Given the description of an element on the screen output the (x, y) to click on. 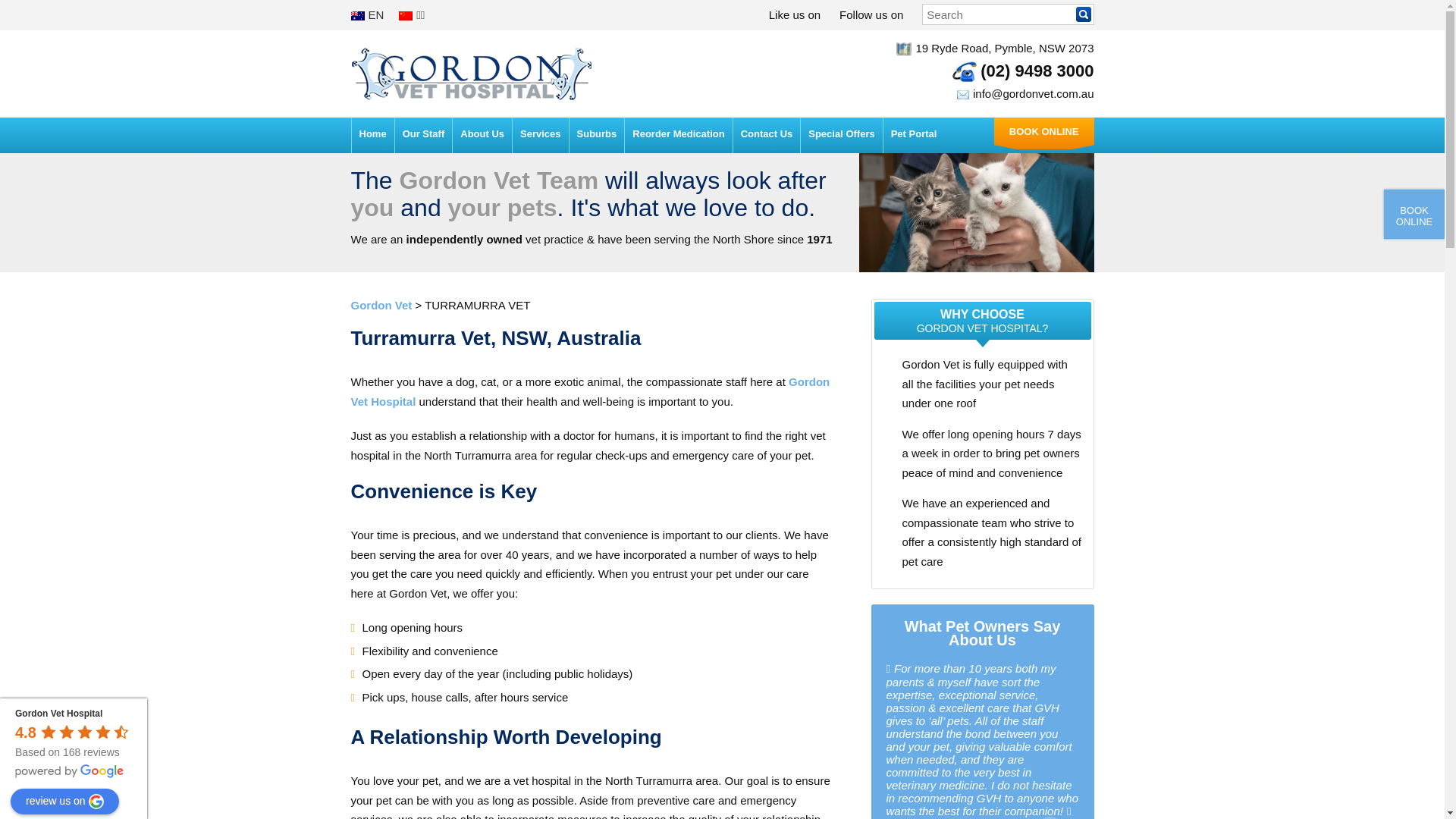
Our Staff Element type: text (423, 135)
Search Element type: text (1082, 13)
Home Element type: text (372, 135)
Pet Portal Element type: text (913, 135)
Gordon Vet Hospital Element type: text (589, 391)
Reorder Medication Element type: text (677, 135)
Suburbs Element type: text (596, 135)
powered by Google Element type: hover (69, 771)
Services Element type: text (540, 135)
Special Offers Element type: text (840, 135)
Contact Us Element type: text (766, 135)
BOOK ONLINE Element type: text (1044, 133)
EN Element type: text (366, 14)
review us on Element type: text (64, 801)
(02) 9498 3000 Element type: text (1036, 70)
info@gordonvet.com.au Element type: text (1033, 93)
Gordon Vet Element type: text (380, 304)
About Us Element type: text (481, 135)
Gordon Vet Hospital Element type: text (58, 713)
Gordon Vet Element type: hover (471, 73)
BOOK ONLINE Element type: text (1413, 213)
